Given the description of an element on the screen output the (x, y) to click on. 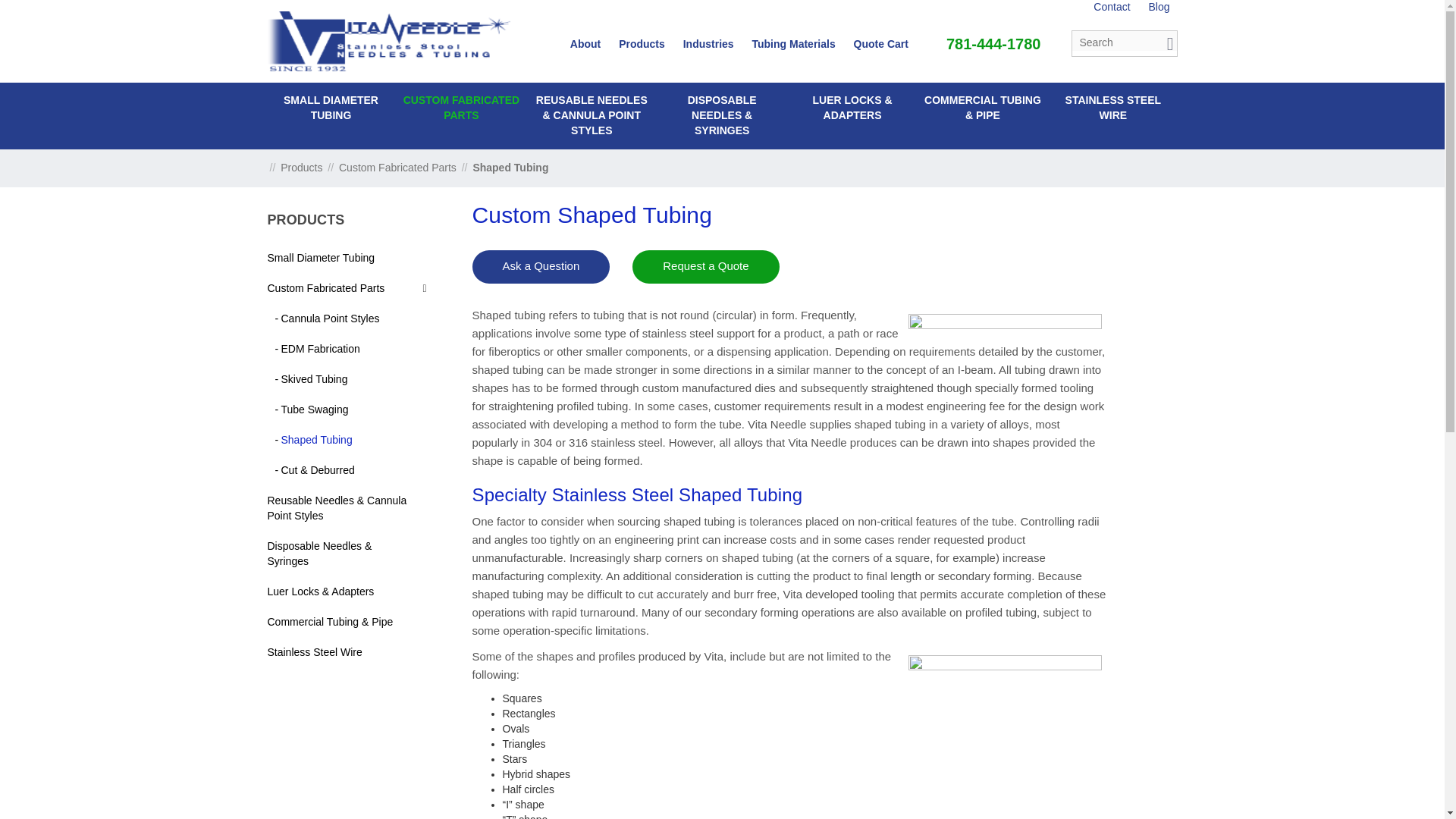
Search (1165, 43)
Contact (1111, 6)
Industries (707, 43)
SMALL DIAMETER TUBING (330, 108)
Contact (1111, 6)
Vita Needle Company (387, 39)
Blog (1158, 6)
Blog (1158, 6)
781-444-1780 (993, 44)
Products (301, 167)
About (584, 43)
Quote Cart (880, 43)
Industries (707, 43)
STAINLESS STEEL WIRE (1113, 108)
Quote Cart (880, 43)
